Given the description of an element on the screen output the (x, y) to click on. 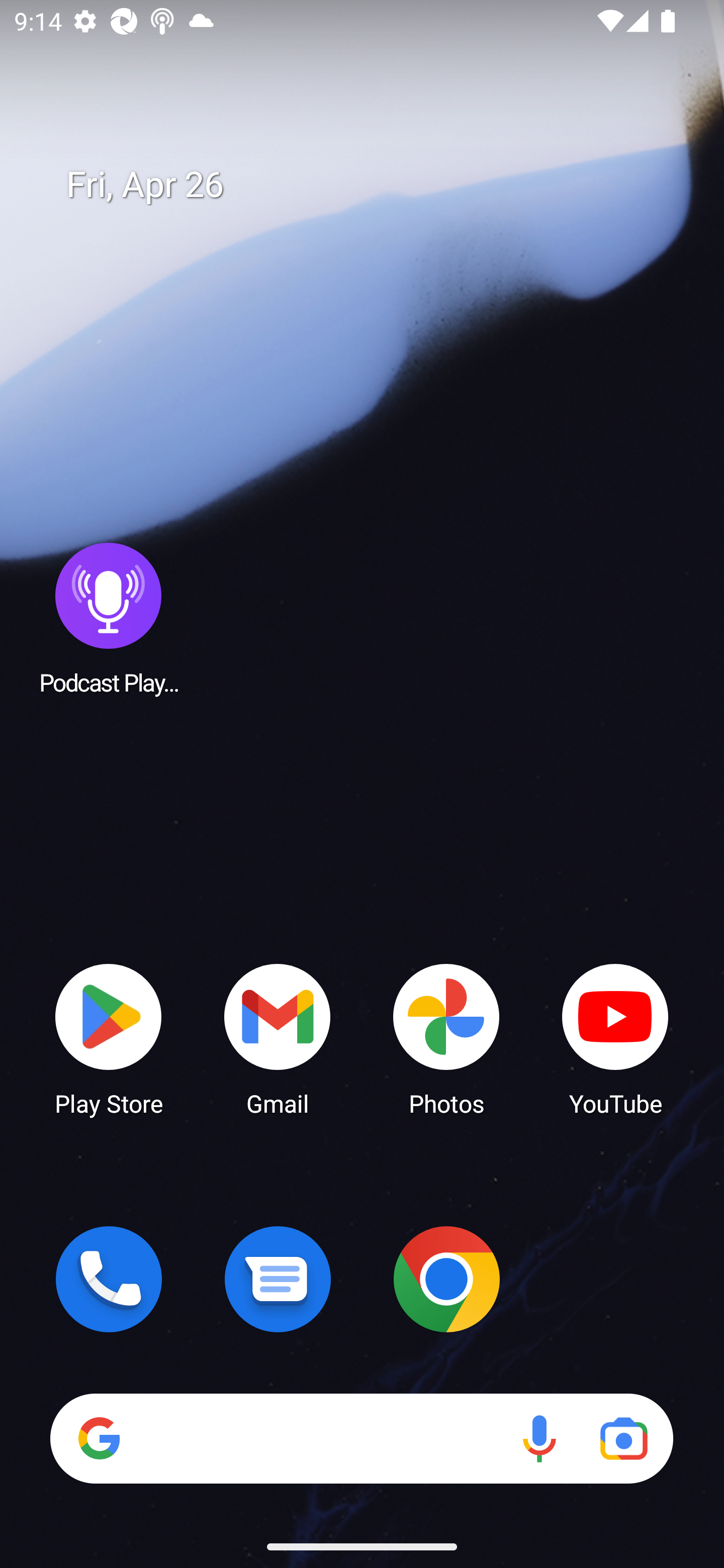
Fri, Apr 26 (375, 184)
Podcast Player (108, 617)
Play Store (108, 1038)
Gmail (277, 1038)
Photos (445, 1038)
YouTube (615, 1038)
Phone (108, 1279)
Messages (277, 1279)
Chrome (446, 1279)
Search Voice search Google Lens (361, 1438)
Voice search (539, 1438)
Google Lens (623, 1438)
